Given the description of an element on the screen output the (x, y) to click on. 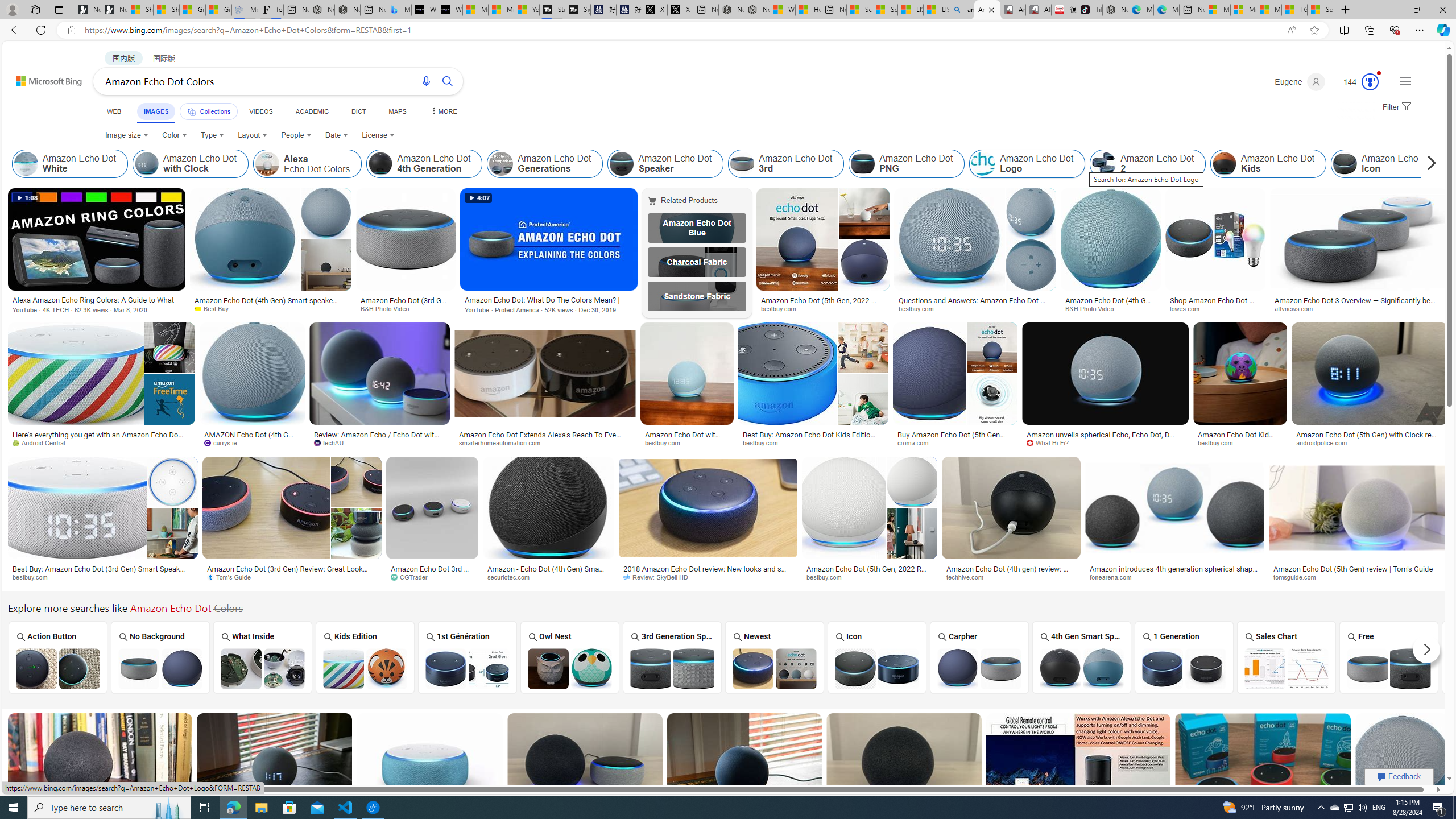
Amazon Echo Dot Photo No Background No Background (160, 656)
Filter (1395, 107)
Amazon Echo Dot 3rd (742, 163)
Amazon Echo Dot Kids (1224, 163)
Microsoft Rewards 141 (1356, 81)
CGTrader (431, 576)
Amazon Echo Dot White (25, 163)
Nordace - Summer Adventures 2024 (756, 9)
